Given the description of an element on the screen output the (x, y) to click on. 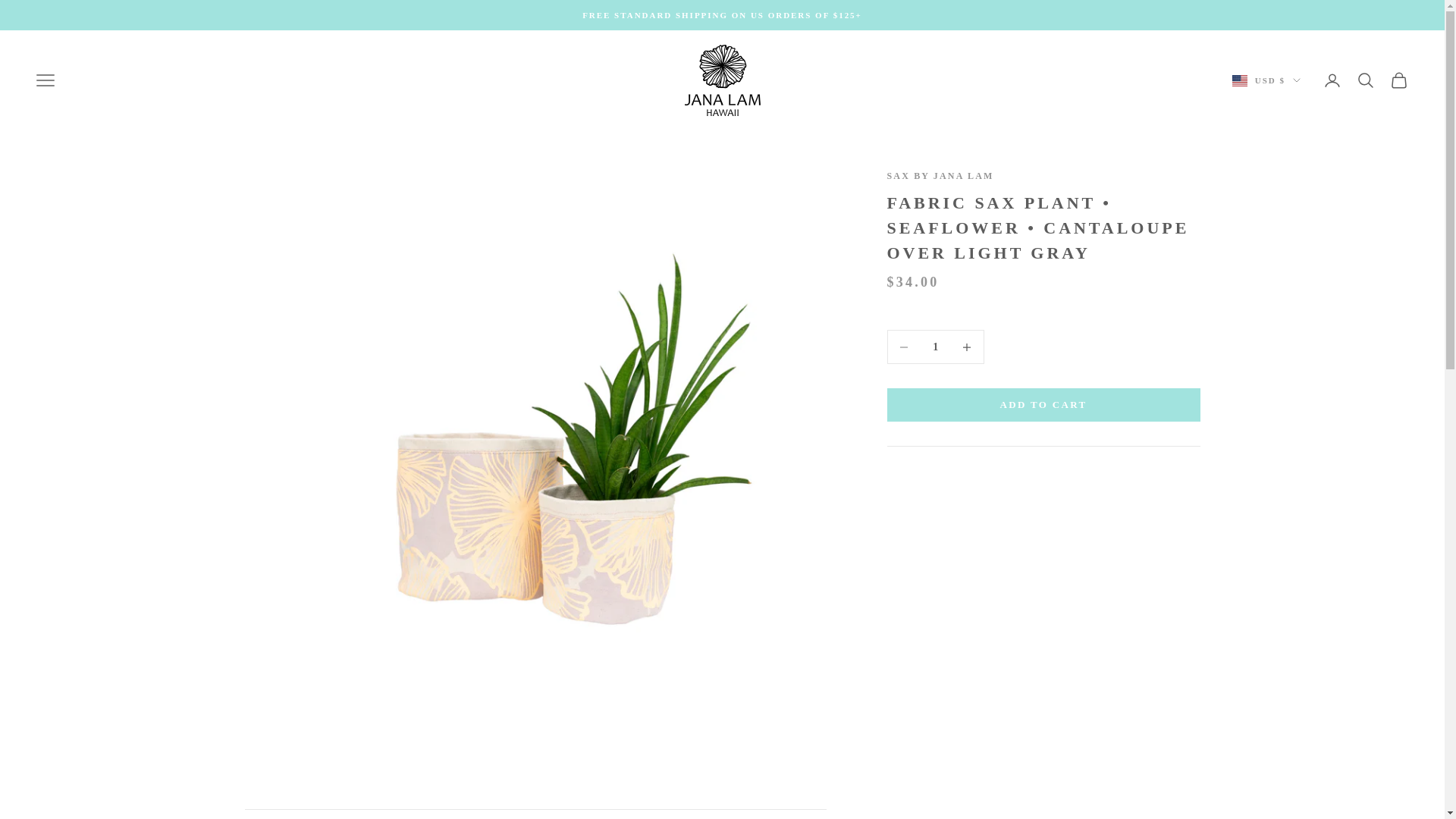
Jana Lam Hawaii (722, 80)
Open navigation menu (45, 80)
1 (534, 814)
